Given the description of an element on the screen output the (x, y) to click on. 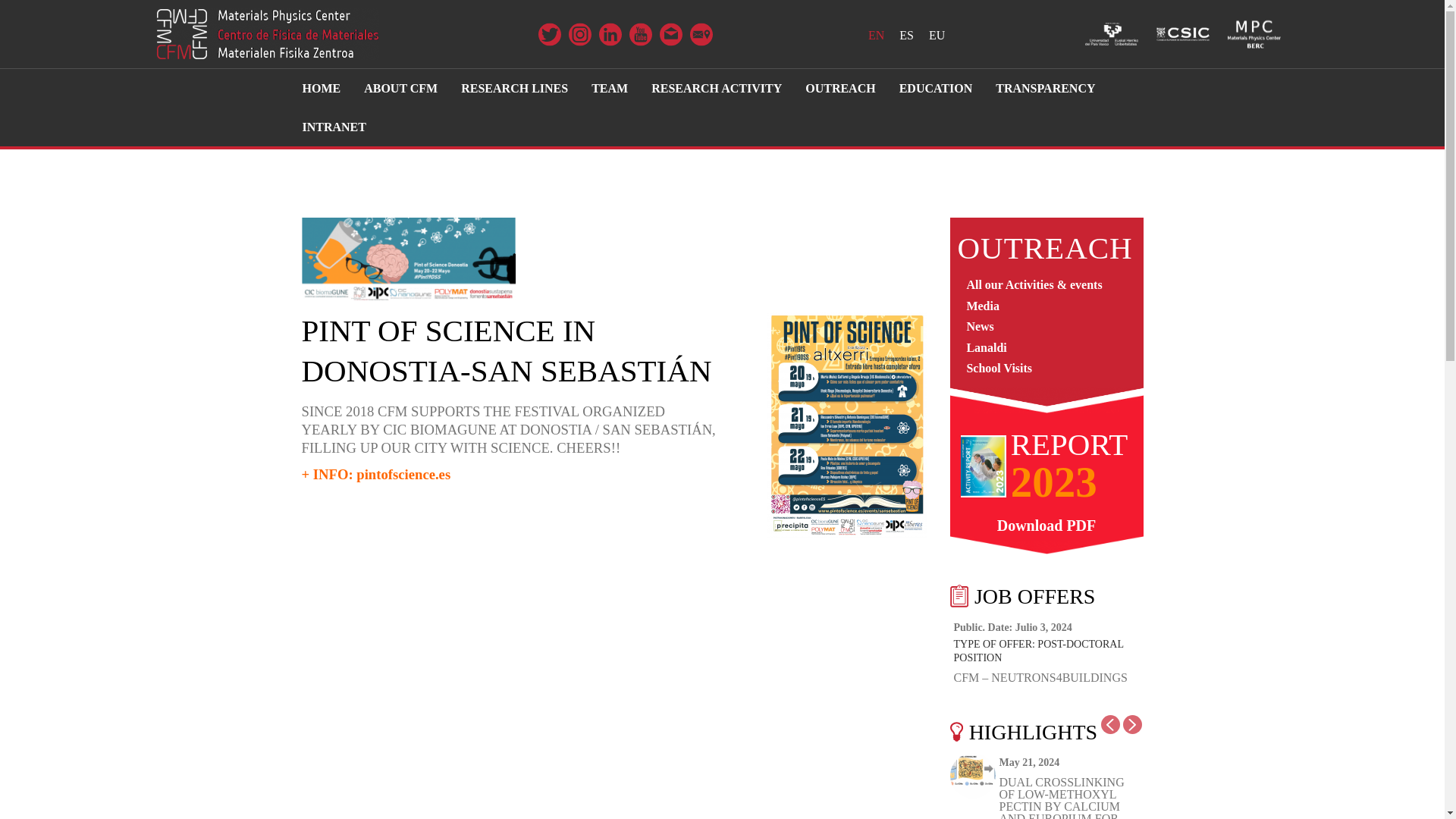
A research center focused in materials science (266, 33)
OUTREACH (839, 87)
ABOUT CFM (400, 87)
Download PDF (1045, 525)
HOME (321, 87)
INTRANET (334, 126)
TEAM (609, 87)
TRANSPARENCY (1045, 87)
EDUCATION (936, 87)
RESEARCH ACTIVITY (716, 87)
EN (875, 35)
ABOUT CFM (400, 87)
HOME (321, 87)
ES (906, 35)
RESEARCH LINES (514, 87)
